Given the description of an element on the screen output the (x, y) to click on. 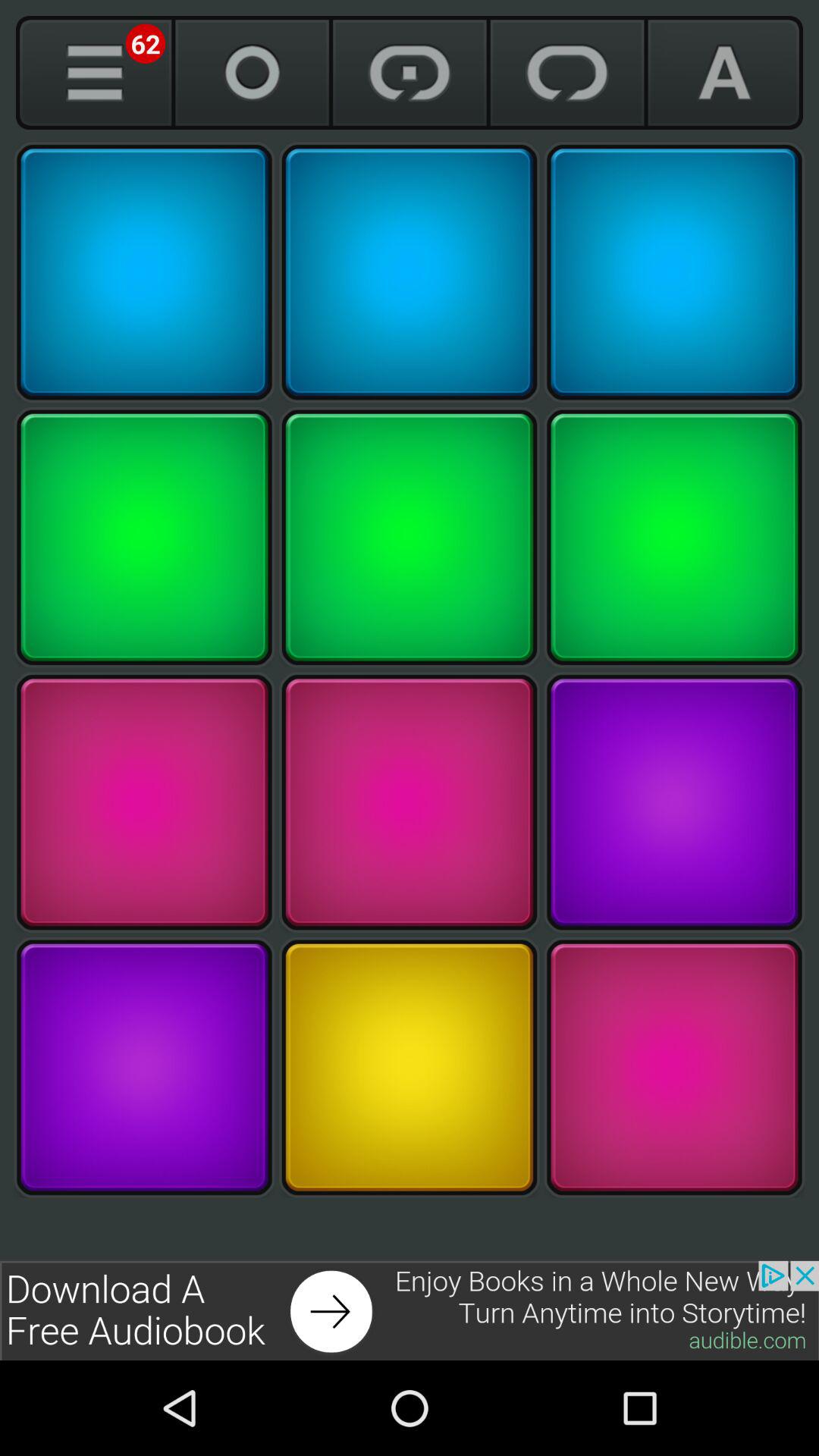
open game options (94, 72)
